Given the description of an element on the screen output the (x, y) to click on. 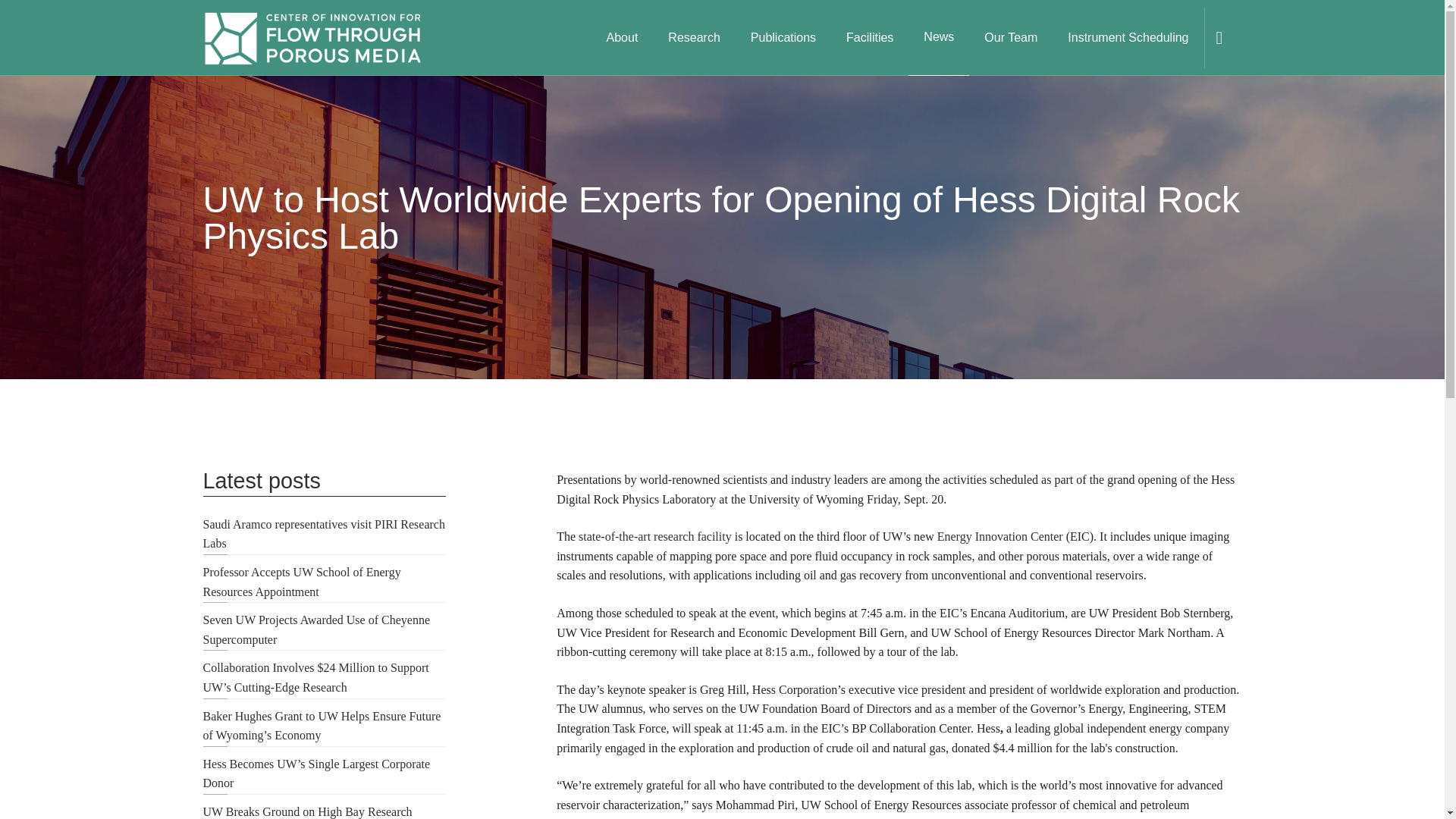
Facilities (869, 38)
Our Team (1010, 38)
Research (693, 38)
Professor Accepts UW School of Energy Resources Appointment (302, 581)
Saudi Aramco representatives visit PIRI Research Labs (324, 533)
state-of-the-art research facility (655, 535)
Energy Innovation Center (999, 535)
Instrument Scheduling (1128, 38)
UW Breaks Ground on High Bay Research Facility (307, 812)
Search (1209, 98)
